Given the description of an element on the screen output the (x, y) to click on. 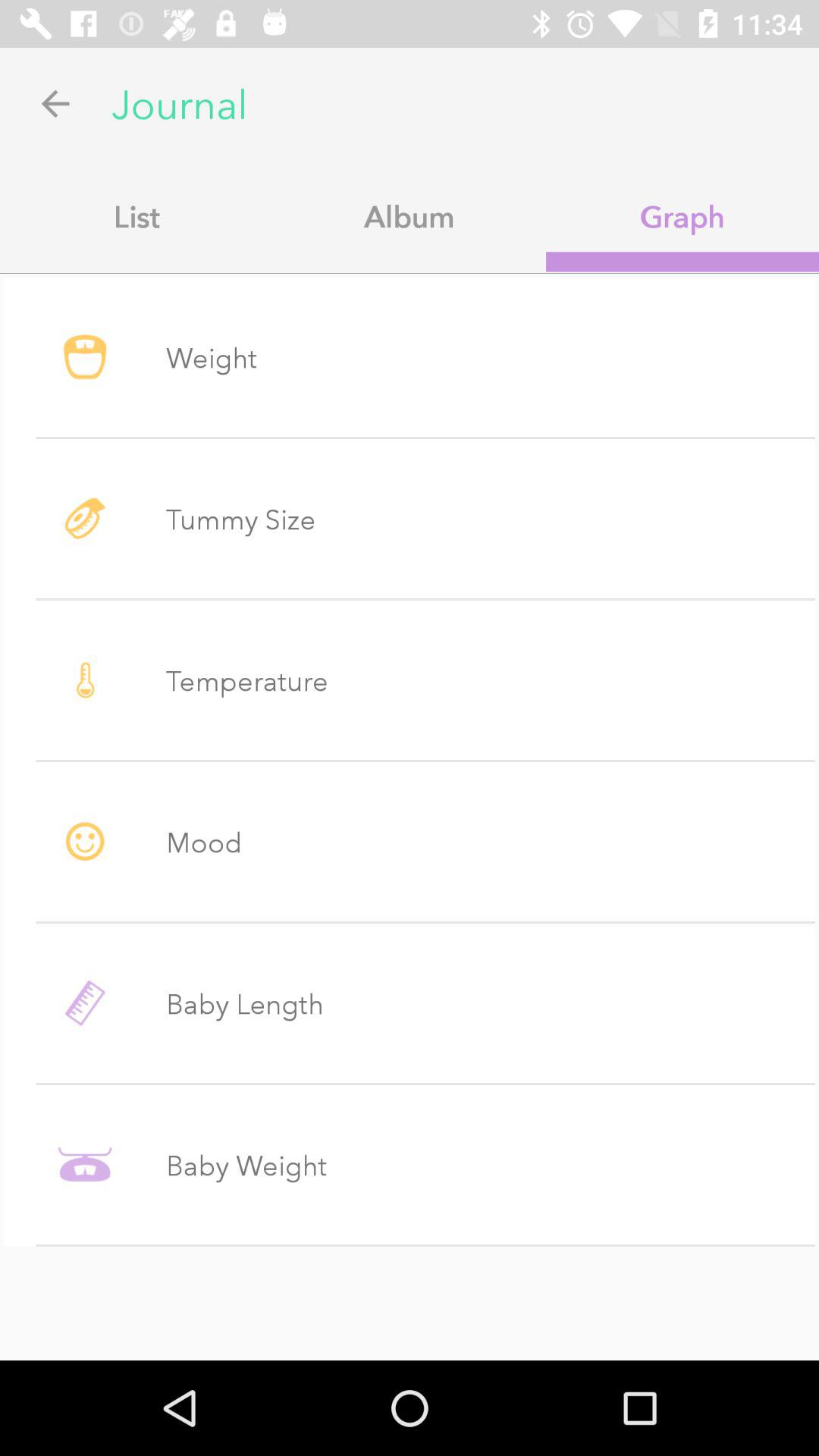
press item to the right of the list app (409, 216)
